Given the description of an element on the screen output the (x, y) to click on. 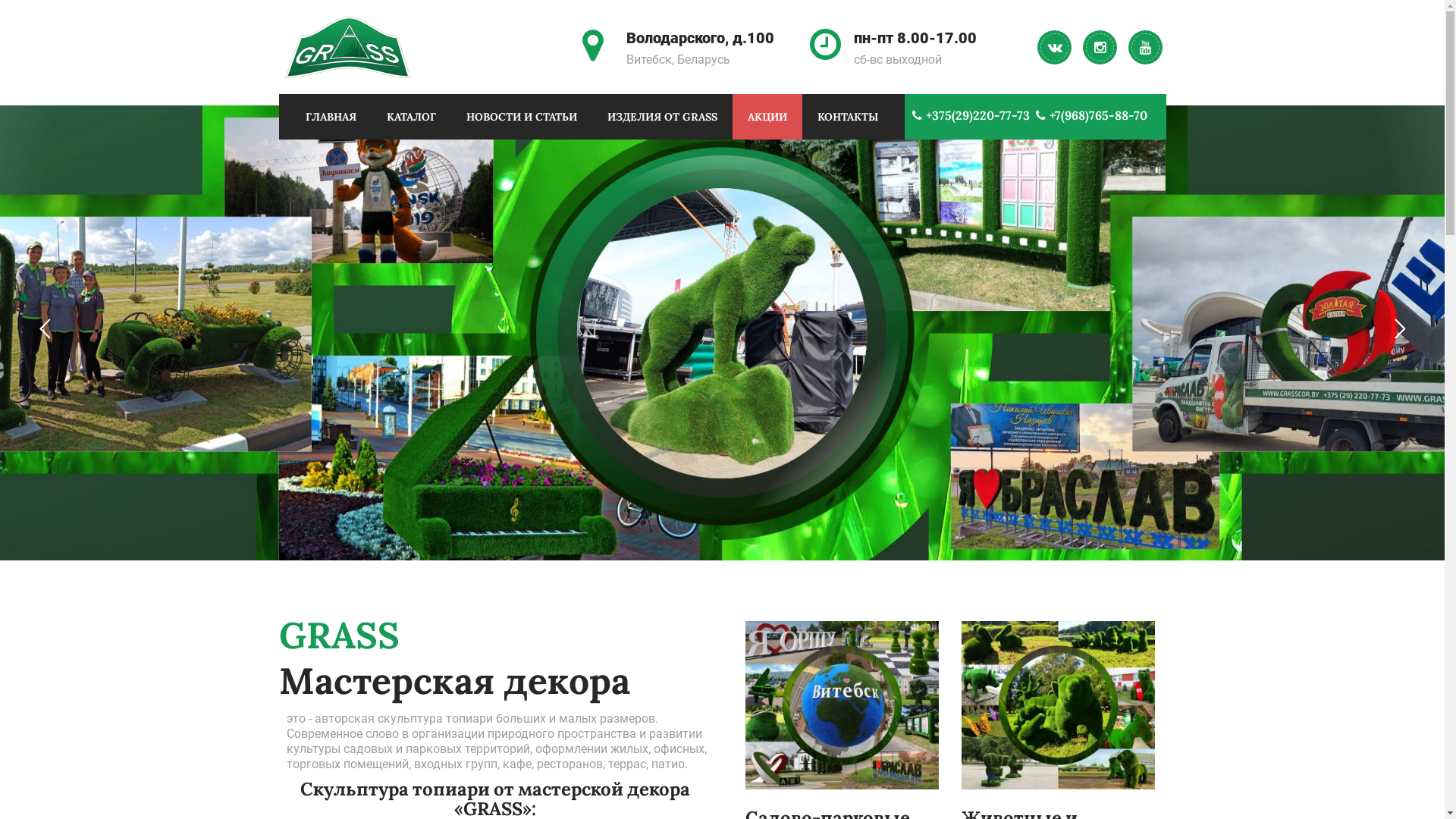
+7(968)765-88-70 Element type: text (1087, 114)
+375(29)220-77-73 Element type: text (966, 114)
